Given the description of an element on the screen output the (x, y) to click on. 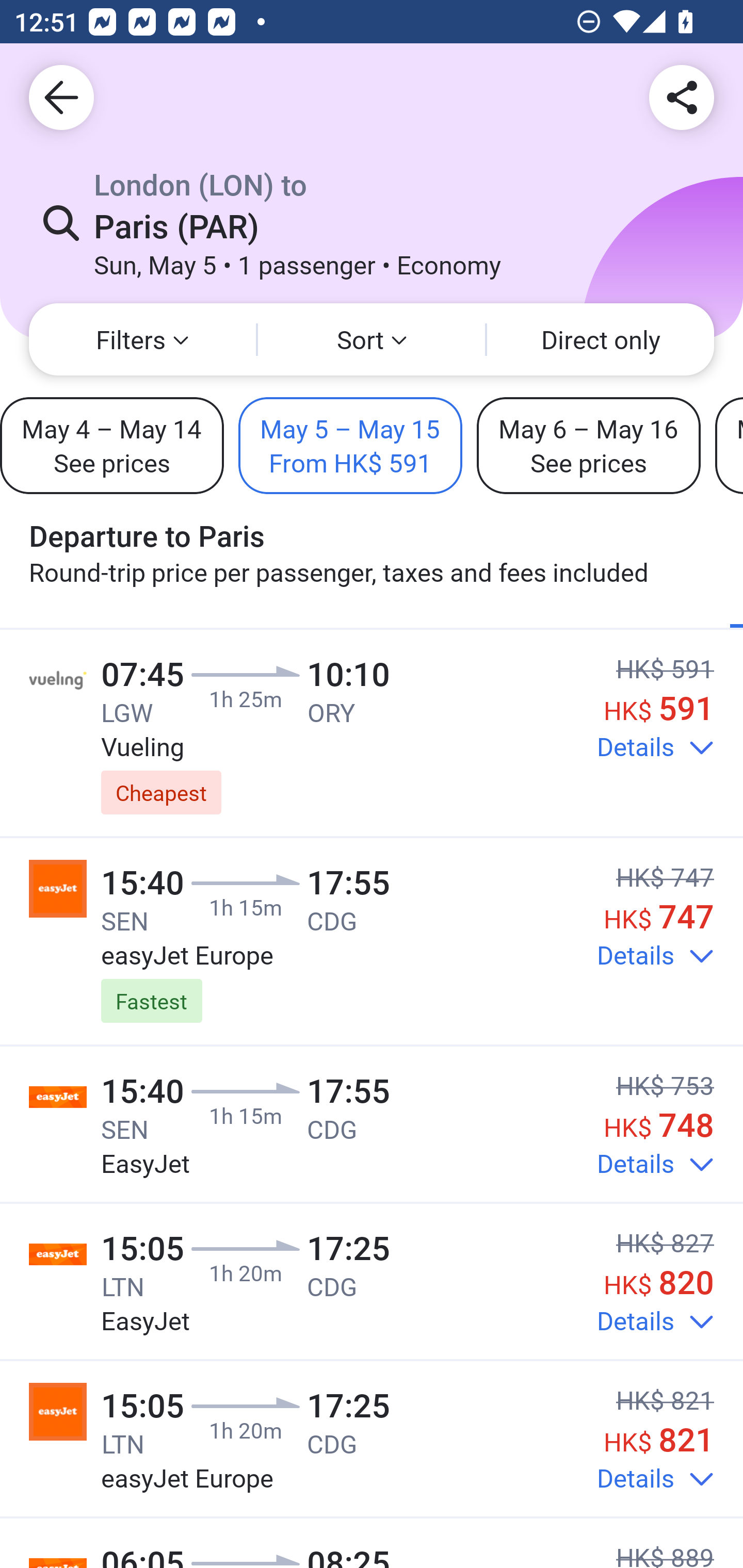
Filters (141, 339)
Sort (371, 339)
Direct only (600, 339)
May 4 – May 14 See prices (111, 444)
May 5 – May 15 From HK$ 591 (350, 444)
May 6 – May 16 See prices (588, 444)
